Given the description of an element on the screen output the (x, y) to click on. 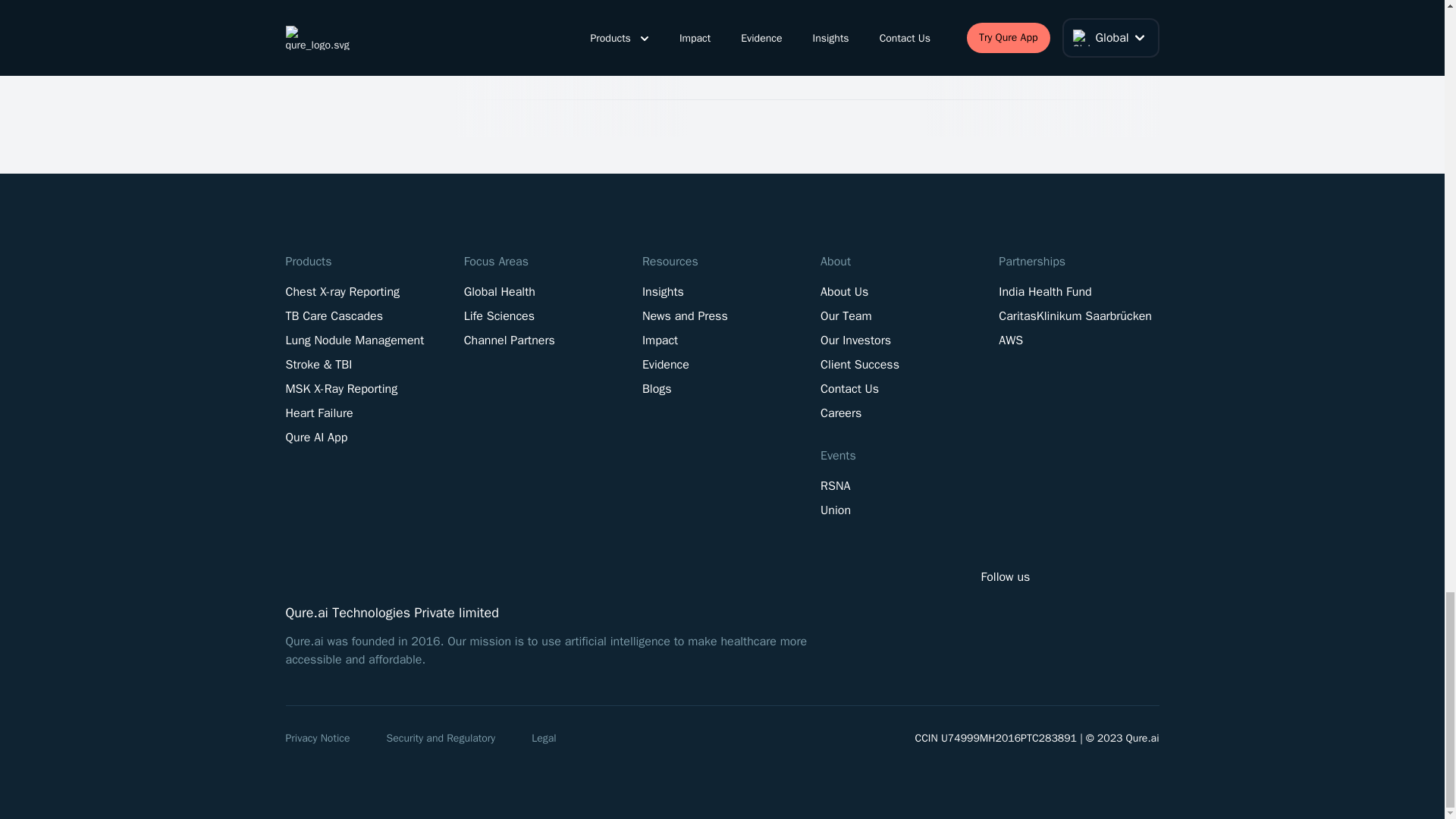
Featured in (352, 42)
